Given the description of an element on the screen output the (x, y) to click on. 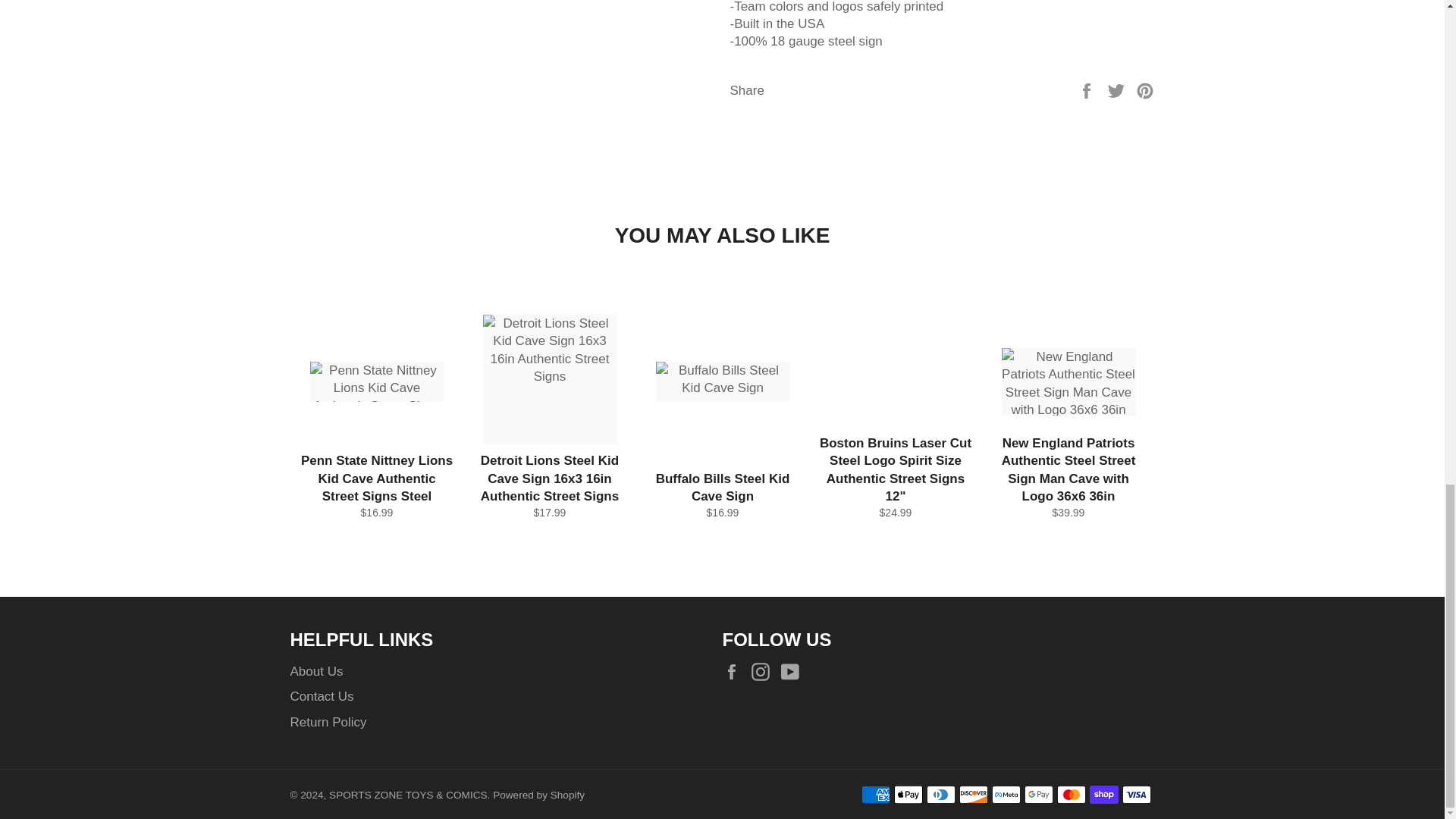
Pin on Pinterest (1144, 90)
Share on Facebook (1088, 90)
Tweet on Twitter (1117, 90)
